Given the description of an element on the screen output the (x, y) to click on. 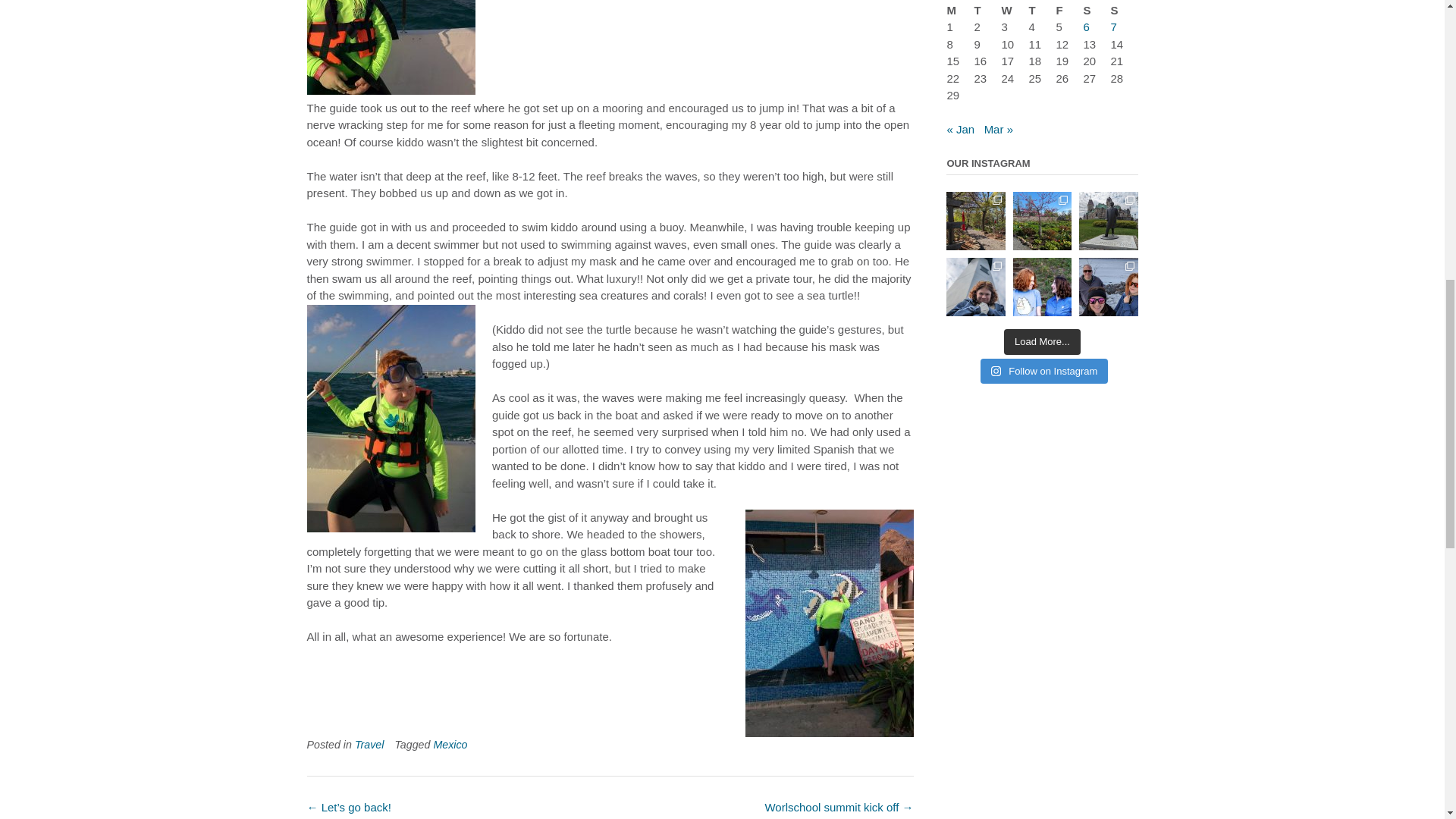
Tuesday (987, 10)
Sunday (1123, 10)
Thursday (1041, 10)
Saturday (1096, 10)
Wednesday (1014, 10)
Friday (1069, 10)
Monday (960, 10)
Travel (369, 744)
Mexico (449, 744)
